Given the description of an element on the screen output the (x, y) to click on. 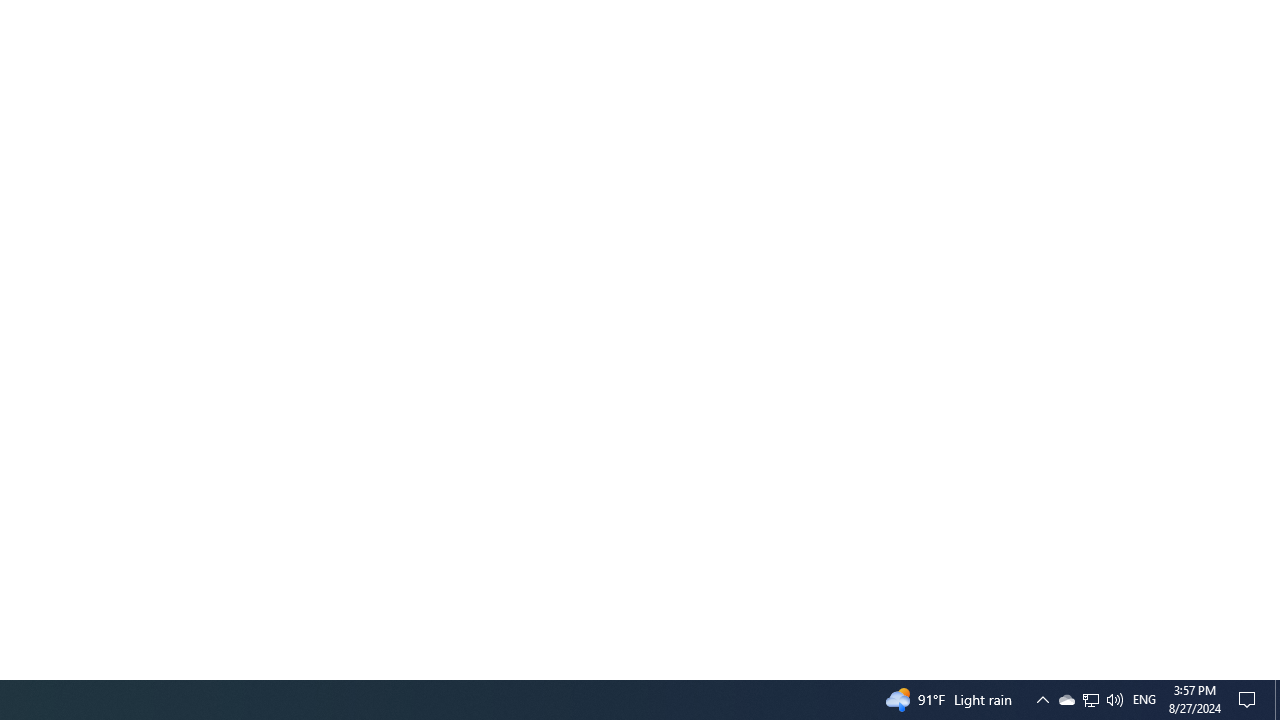
Action Center, No new notifications (1250, 699)
Notification Chevron (1066, 699)
Q2790: 100% (1042, 699)
User Promoted Notification Area (1114, 699)
Show desktop (1090, 699)
Tray Input Indicator - English (United States) (1091, 699)
